Given the description of an element on the screen output the (x, y) to click on. 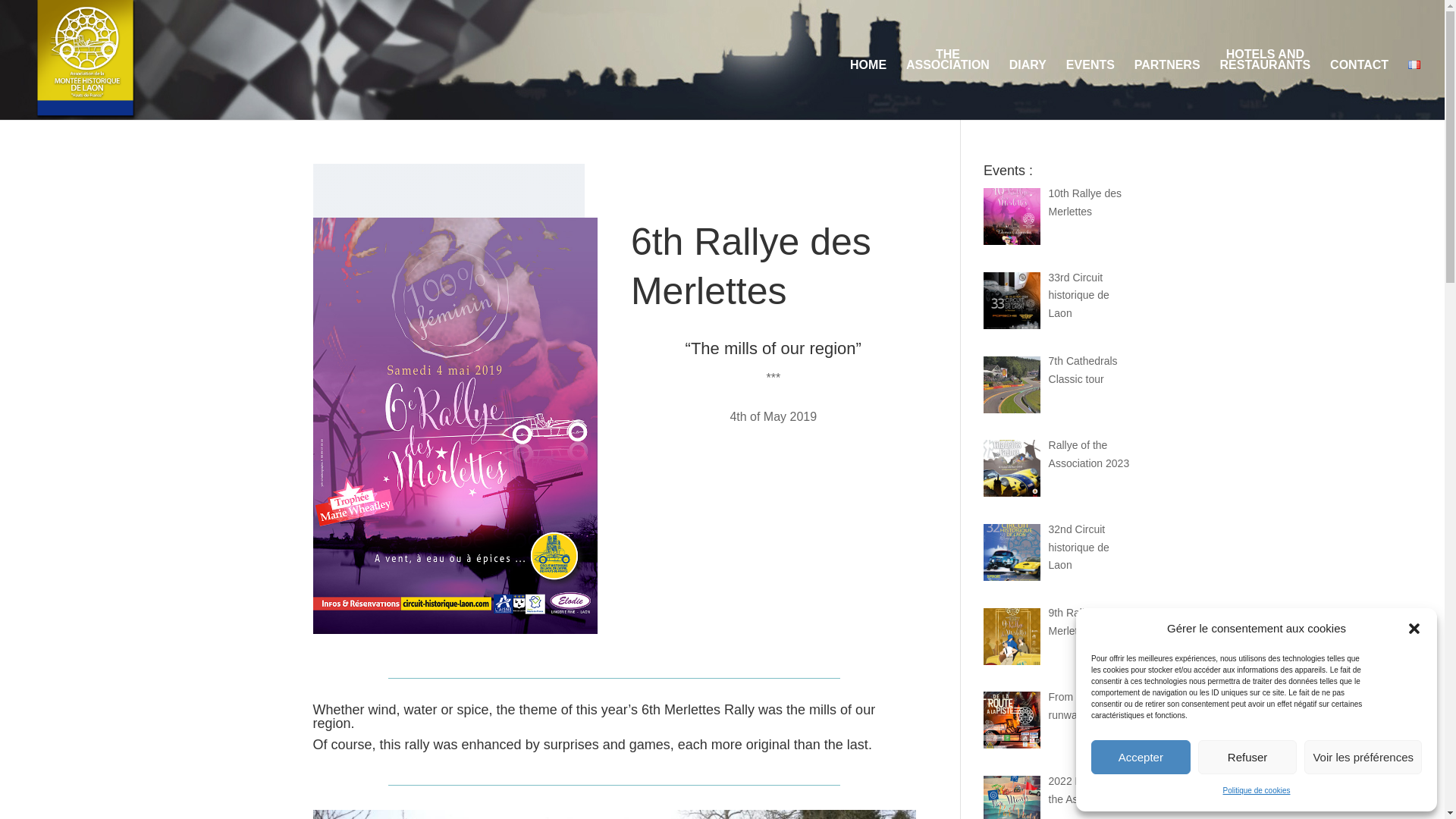
CONTACT (1359, 89)
32nd Circuit historique de Laon (1078, 547)
2022 Rallye of the Association (1265, 84)
6-Rallye-Merlettes-1 (1083, 789)
7th Cathedrals Classic tour (614, 814)
9th Rallye des Merlettes (1083, 369)
Accepter (1082, 621)
PARTNERS (947, 84)
10th Rallye des Merlettes (1140, 756)
33rd Circuit historique de Laon (1166, 89)
Rallye of the Association 2023 (1085, 202)
From road to runway 2023 (1078, 295)
Refuser (1088, 453)
